Given the description of an element on the screen output the (x, y) to click on. 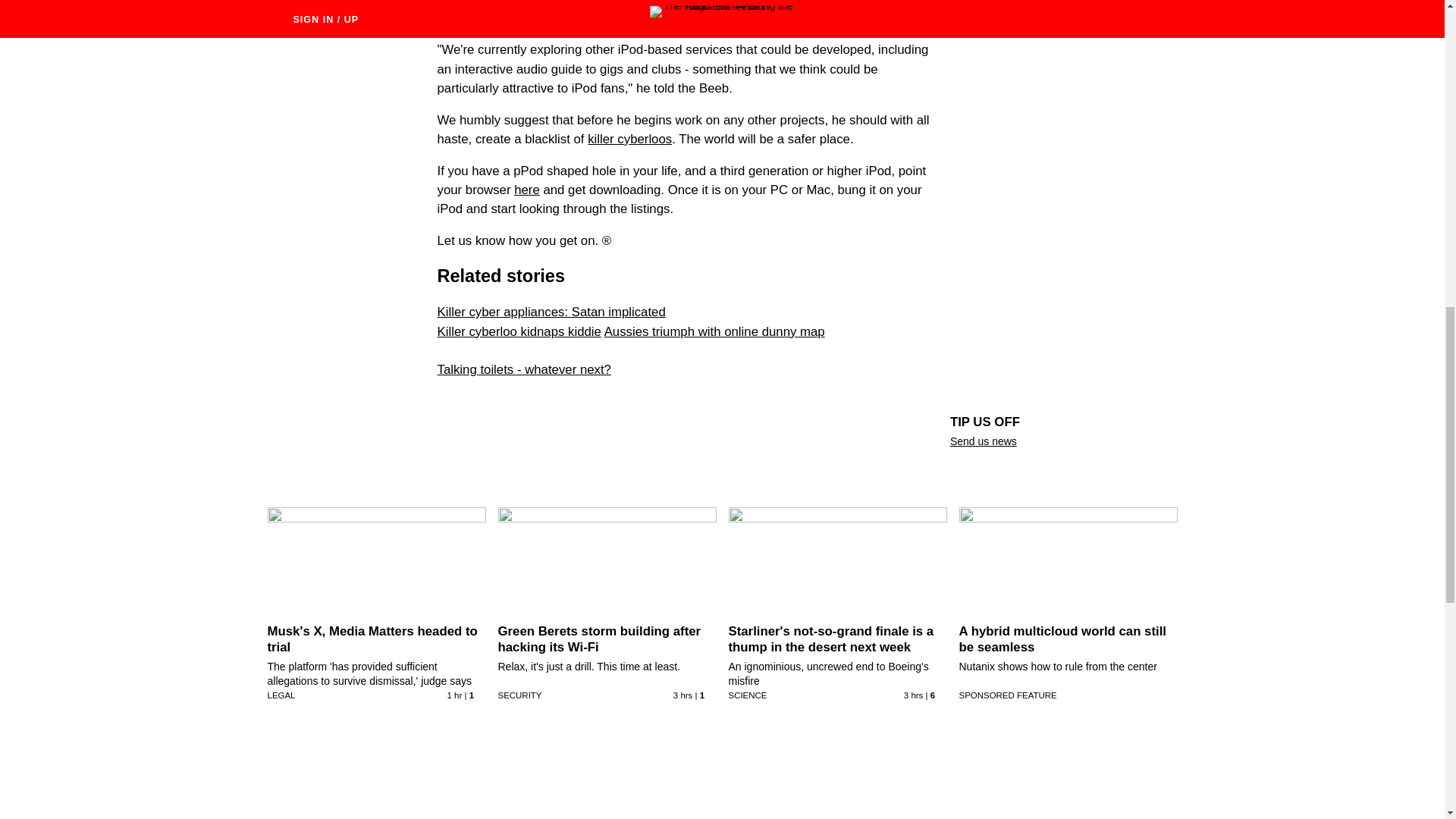
30 Aug 2024 21:0 (682, 695)
30 Aug 2024 22:30 (454, 695)
30 Aug 2024 20:30 (913, 695)
